Given the description of an element on the screen output the (x, y) to click on. 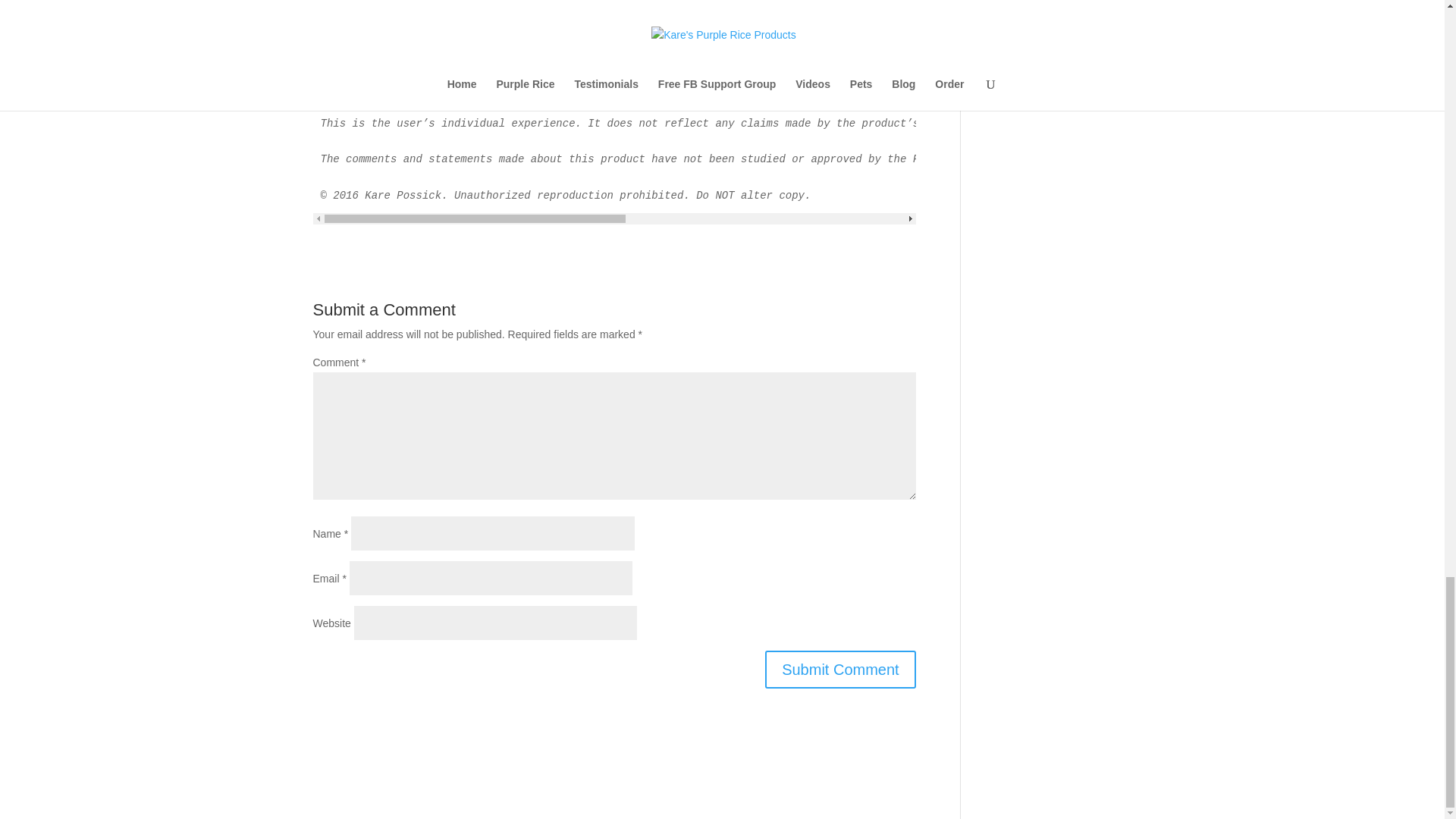
Submit Comment (840, 669)
Submit Comment (840, 669)
